Given the description of an element on the screen output the (x, y) to click on. 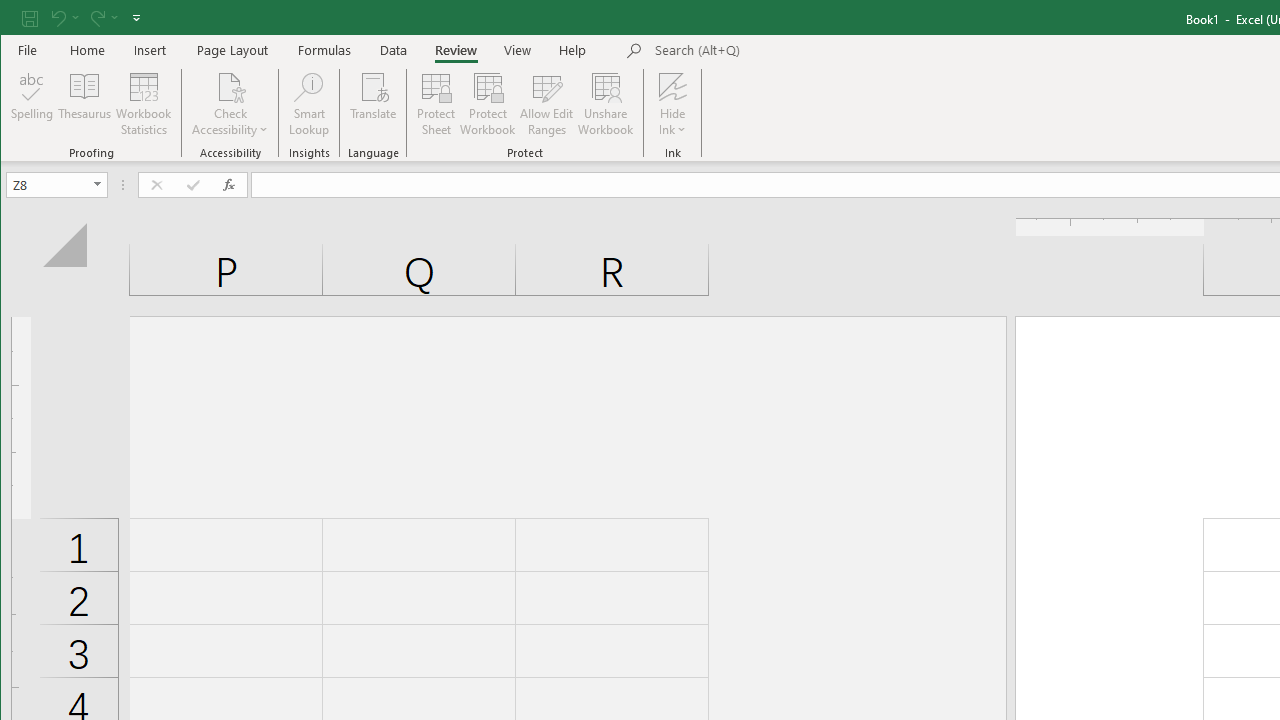
Thesaurus... (84, 104)
Check Accessibility (230, 104)
Protect Sheet... (436, 104)
Undo (63, 17)
Microsoft search (794, 51)
Check Accessibility (230, 86)
Quick Access Toolbar (83, 17)
Hide Ink (672, 104)
Formulas (325, 50)
Review (456, 50)
Workbook Statistics (143, 104)
Data (394, 50)
Insert (150, 50)
Open (98, 184)
